Given the description of an element on the screen output the (x, y) to click on. 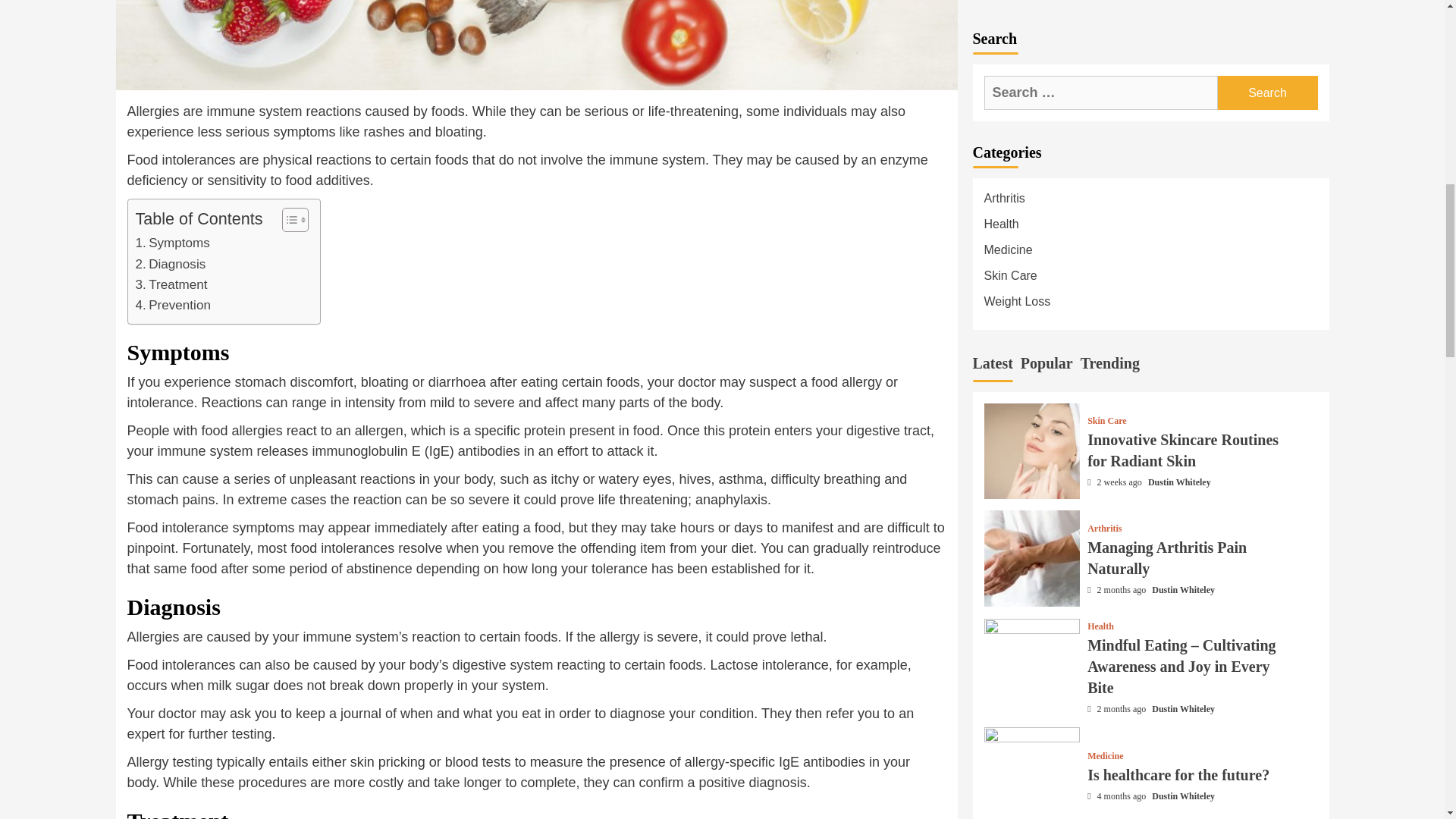
Prevention (172, 304)
Diagnosis (170, 263)
Symptoms (172, 242)
Symptoms (172, 242)
Prevention (172, 304)
Treatment (170, 284)
Diagnosis (170, 263)
Treatment (170, 284)
